Given the description of an element on the screen output the (x, y) to click on. 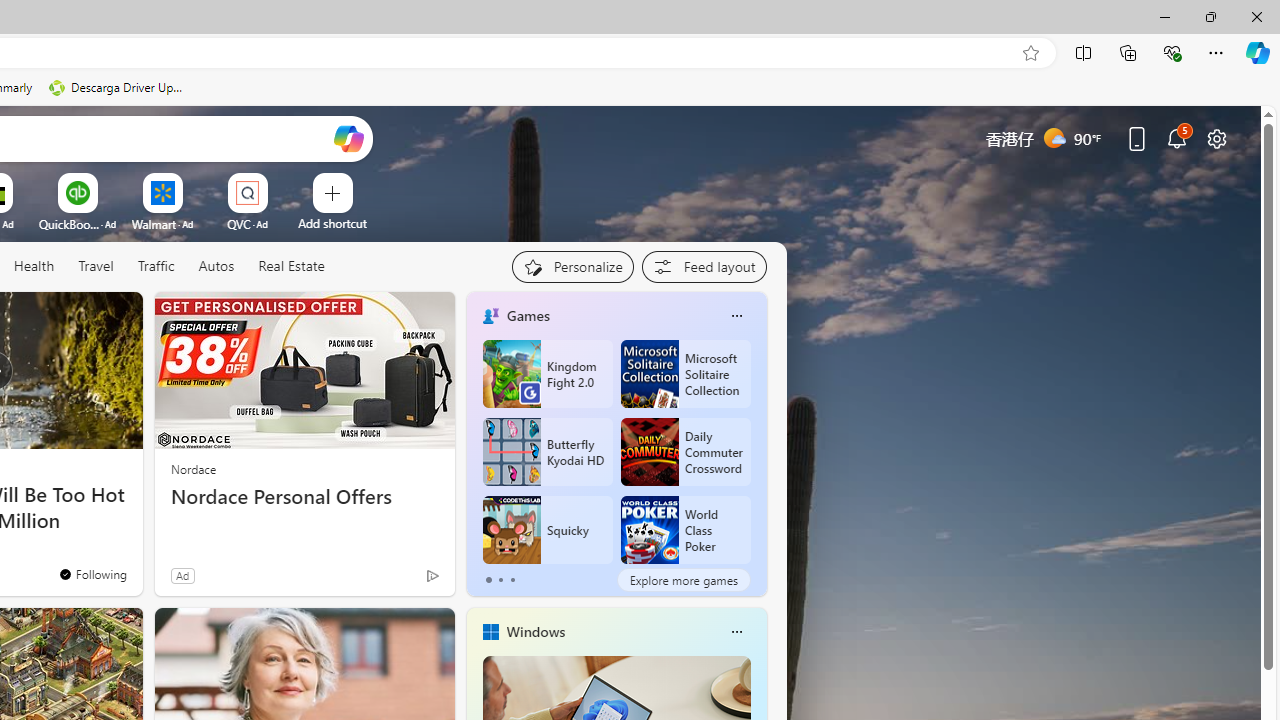
Windows (535, 631)
See more (118, 632)
